Given the description of an element on the screen output the (x, y) to click on. 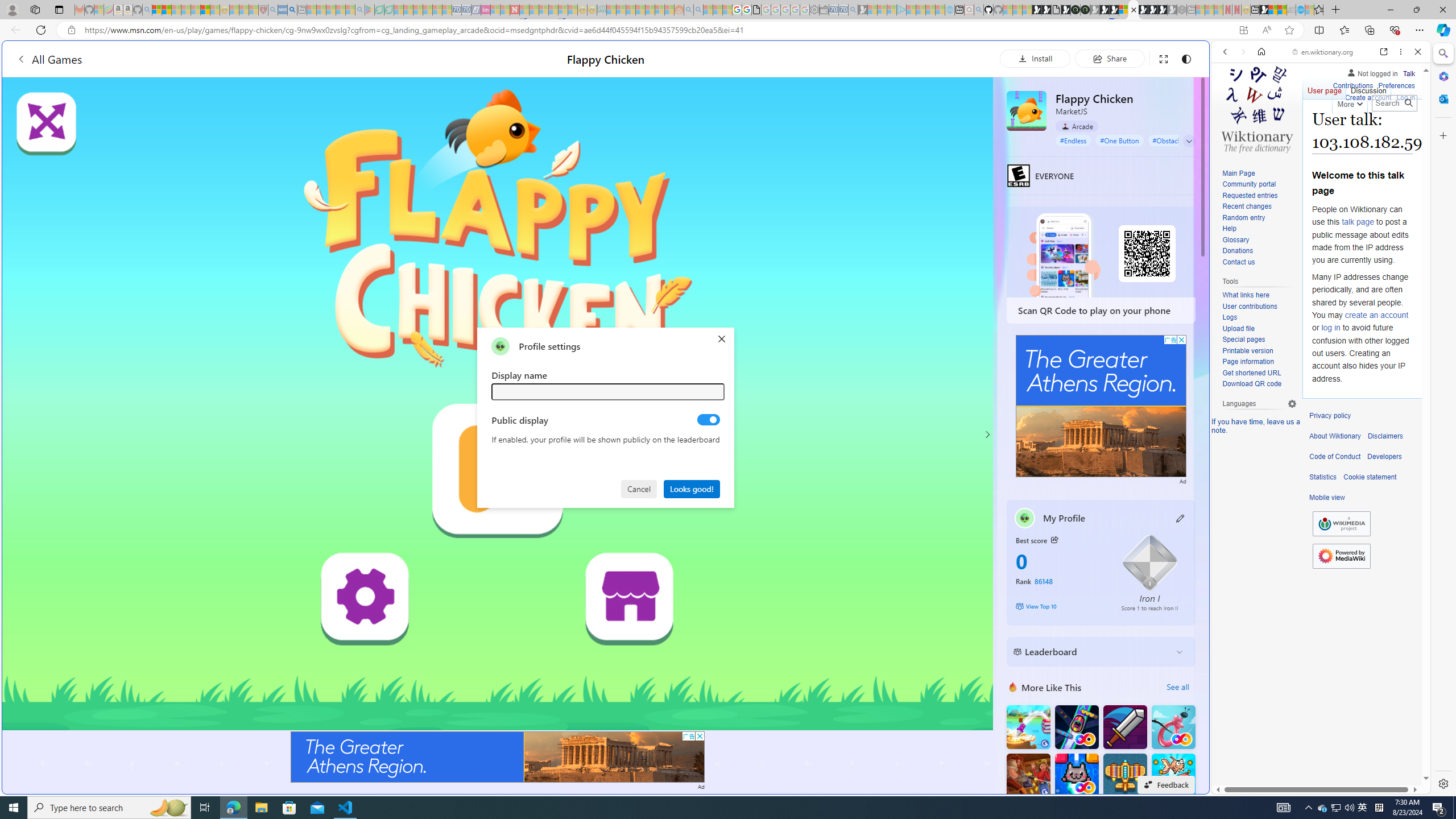
Log in (1405, 98)
Printable version (1259, 351)
Class: control (1188, 140)
Random entry (1259, 218)
Preferences (1396, 84)
See all (1177, 687)
Preferences (1396, 85)
Earth has six continents not seven, radical new study claims (1281, 9)
Search Filter, Search Tools (1350, 129)
Special pages (1259, 339)
Dungeon Master Knight (1124, 726)
Wiktionary (1315, 380)
